Given the description of an element on the screen output the (x, y) to click on. 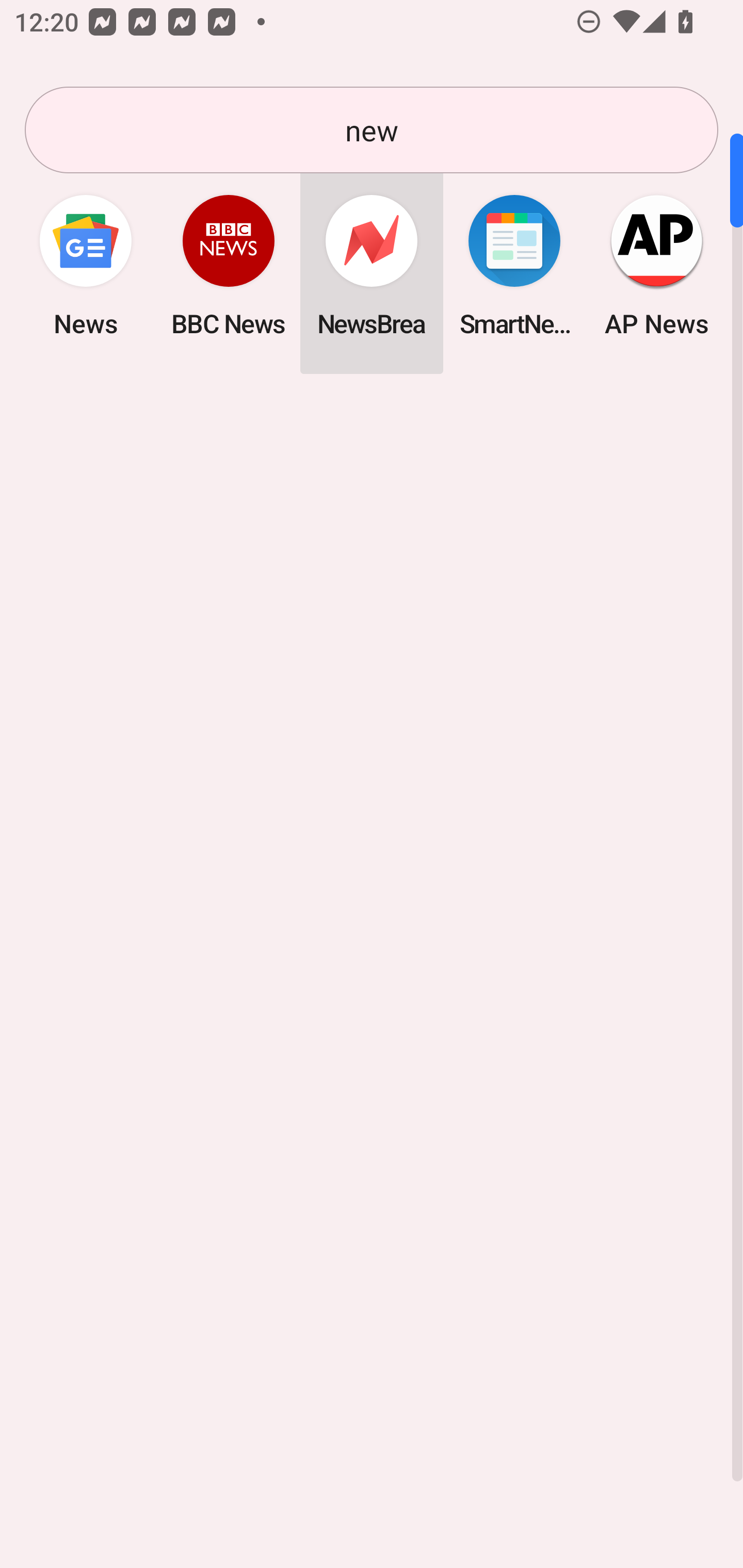
new (371, 130)
News (85, 264)
BBC News (228, 264)
NewsBreak (371, 264)
SmartNews (514, 264)
AP News (656, 264)
